Given the description of an element on the screen output the (x, y) to click on. 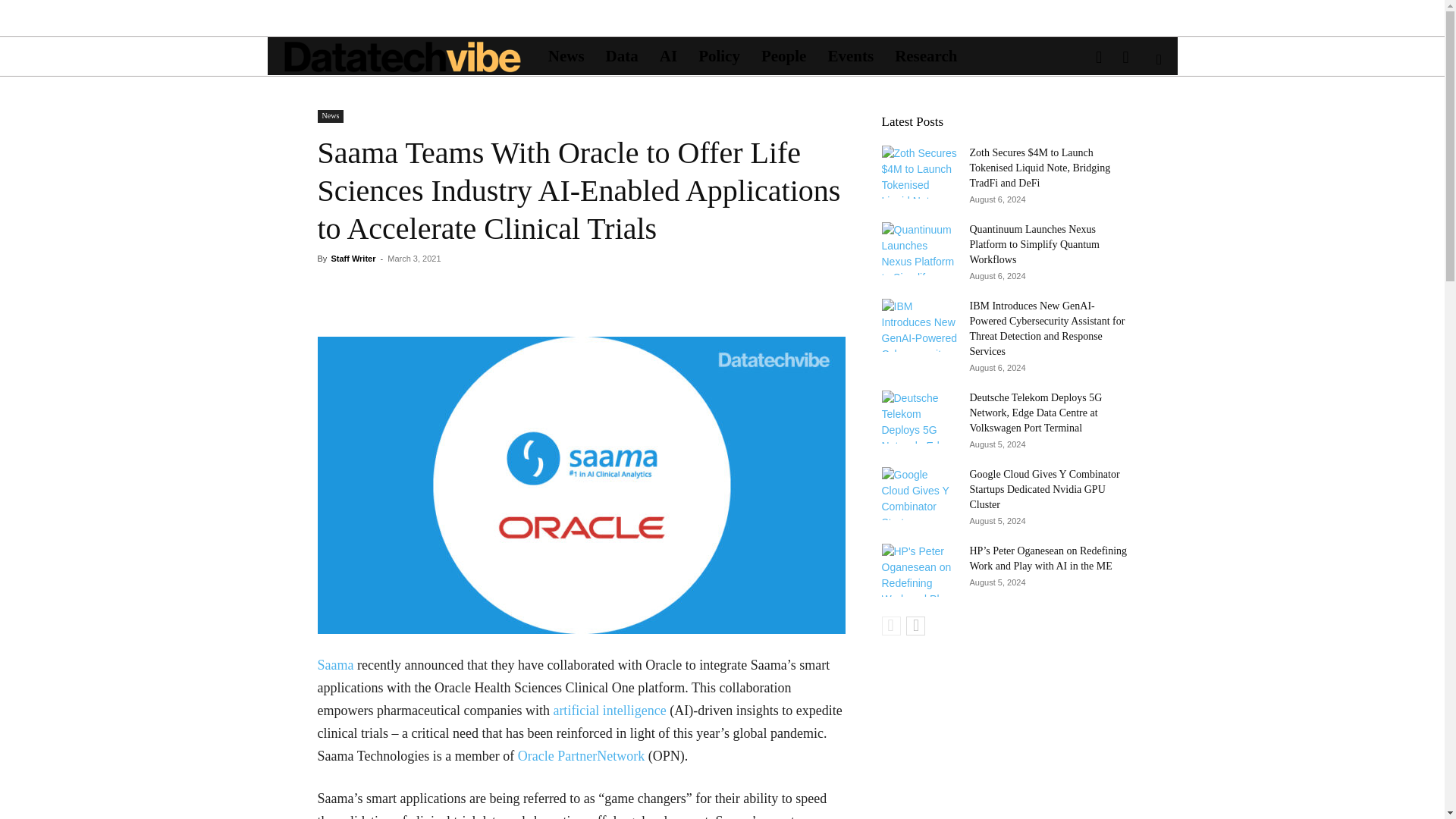
People (783, 55)
Research (925, 55)
Saama (335, 664)
artificial intelligence (609, 710)
News (330, 115)
Events (849, 55)
Datatechvibe (401, 56)
AI (668, 55)
Policy (719, 55)
